Given the description of an element on the screen output the (x, y) to click on. 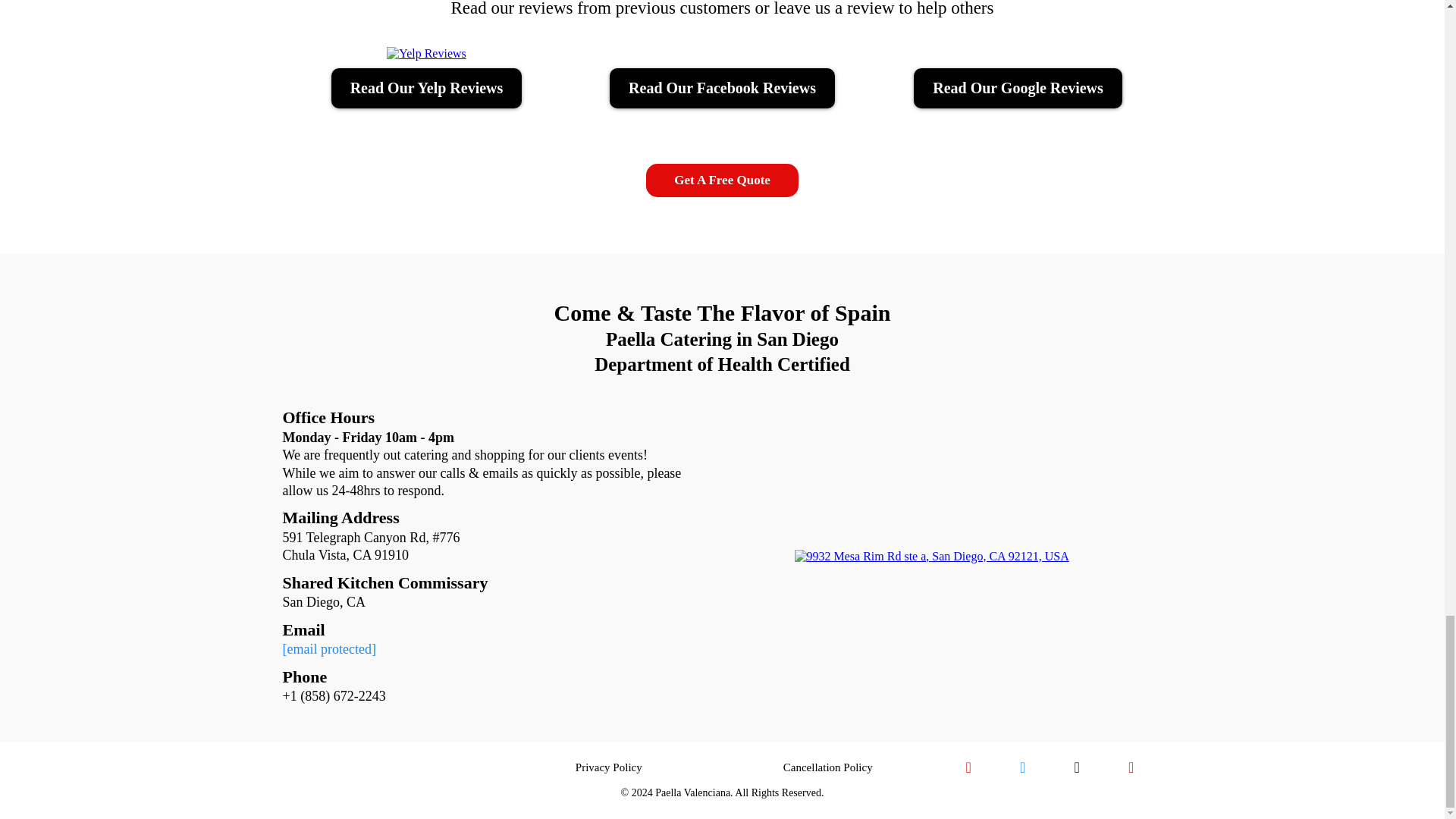
Get A Free Quote (721, 180)
Read Our Yelp Reviews (426, 87)
Read Our Facebook Reviews (722, 87)
Read Our Google Reviews (1018, 87)
Privacy Policy (608, 767)
Cancellation Policy (827, 767)
